Given the description of an element on the screen output the (x, y) to click on. 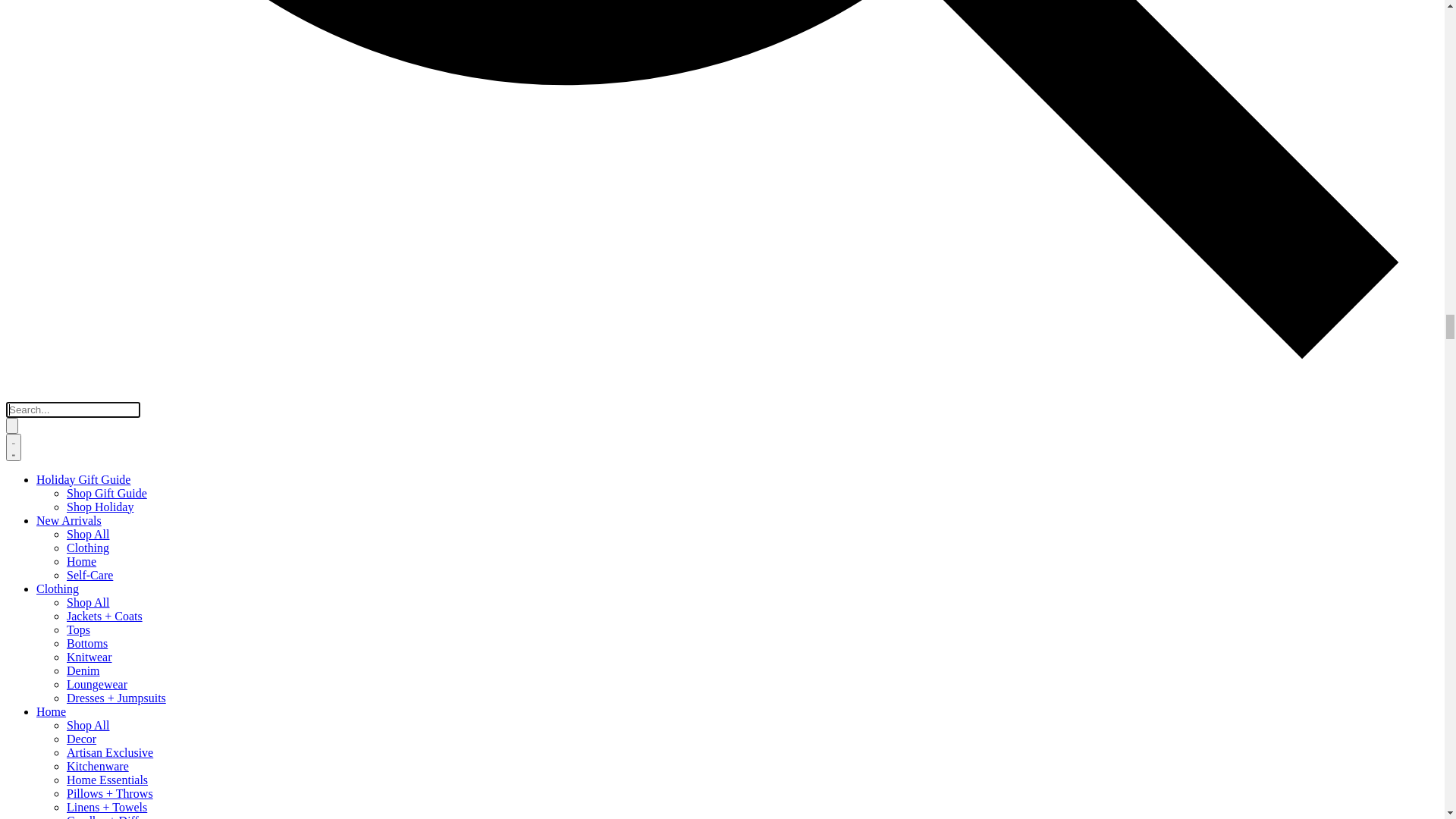
Books Element type: text (21, 405)
Belts Element type: text (18, 810)
Pyrrha Element type: text (22, 658)
Leah Alexandra Element type: text (44, 671)
Jewelry Element type: text (29, 616)
Shop Gift Guide Element type: text (46, 57)
Bella & Wren Jewelry Element type: text (60, 644)
Accessories Element type: text (39, 741)
Clothing Element type: text (27, 114)
Clothing Element type: text (30, 157)
Tools + Brushes Element type: text (45, 530)
Denim Element type: text (22, 239)
Decor Element type: text (20, 310)
Tops Element type: text (17, 198)
Knitwear Element type: text (28, 225)
Kitchenware Element type: text (37, 337)
Skip to content Element type: text (42, 12)
Winter Accessories Element type: text (52, 769)
Artisan Exclusive Element type: text (49, 323)
Home Element type: text (25, 282)
Earrings Element type: text (26, 699)
Shop All Element type: text (27, 630)
Self-Care Element type: text (29, 141)
Alohas Element type: text (23, 601)
Socks Element type: text (20, 783)
Gourmet Food Element type: text (41, 419)
Shop Wellness Element type: text (41, 476)
Linens + Towels Element type: text (46, 378)
Holiday Gift Guide Element type: text (53, 43)
Shop Holiday Element type: text (39, 71)
Bottoms Element type: text (26, 212)
Dresses + Jumpsuits Element type: text (55, 266)
Sheet Masks Element type: text (36, 517)
Candles + Diffusers Element type: text (54, 391)
Mistral Element type: text (23, 558)
Shop All Element type: text (27, 755)
Jackets + Coats Element type: text (43, 184)
Skincare Element type: text (27, 503)
Necklaces Element type: text (31, 712)
Shoes Element type: text (26, 573)
Bath & Body Element type: text (38, 489)
Pillows + Throws Element type: text (49, 364)
Loungewear Element type: text (36, 253)
Shop All Element type: text (27, 171)
Self-Care Element type: text (33, 448)
Cards & Stationery Element type: text (53, 432)
Eyewear Element type: text (27, 796)
Shop All Element type: text (27, 100)
Bracelets Element type: text (28, 685)
Shop Beauty Element type: text (37, 462)
Shop All Element type: text (27, 587)
Shop All Element type: text (27, 296)
Home Element type: text (20, 128)
New Arrivals Element type: text (40, 86)
Supplements Element type: text (37, 544)
Home Essentials Element type: text (46, 351)
Rings Element type: text (20, 726)
